Given the description of an element on the screen output the (x, y) to click on. 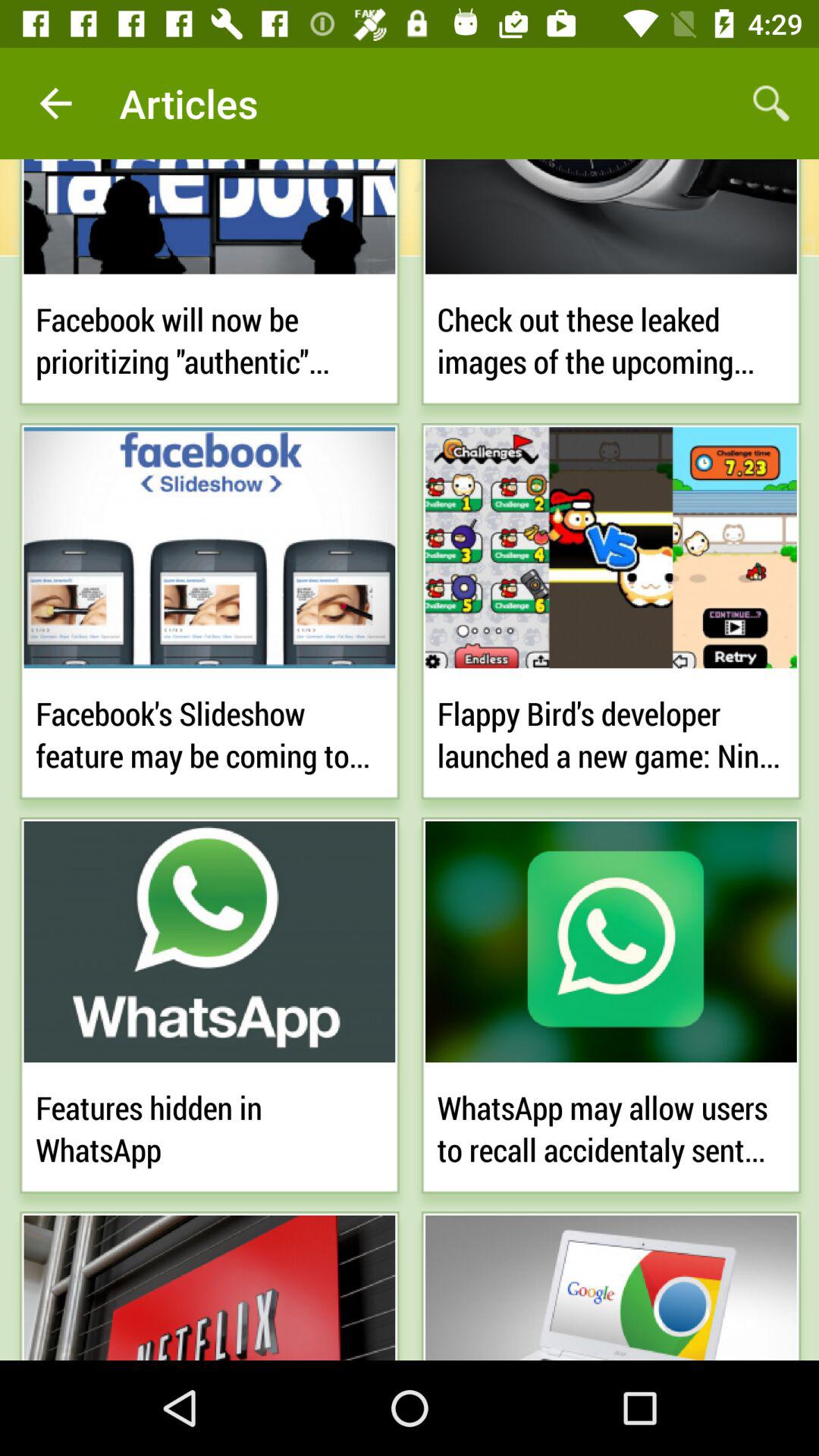
turn on the facebook will now (209, 337)
